Given the description of an element on the screen output the (x, y) to click on. 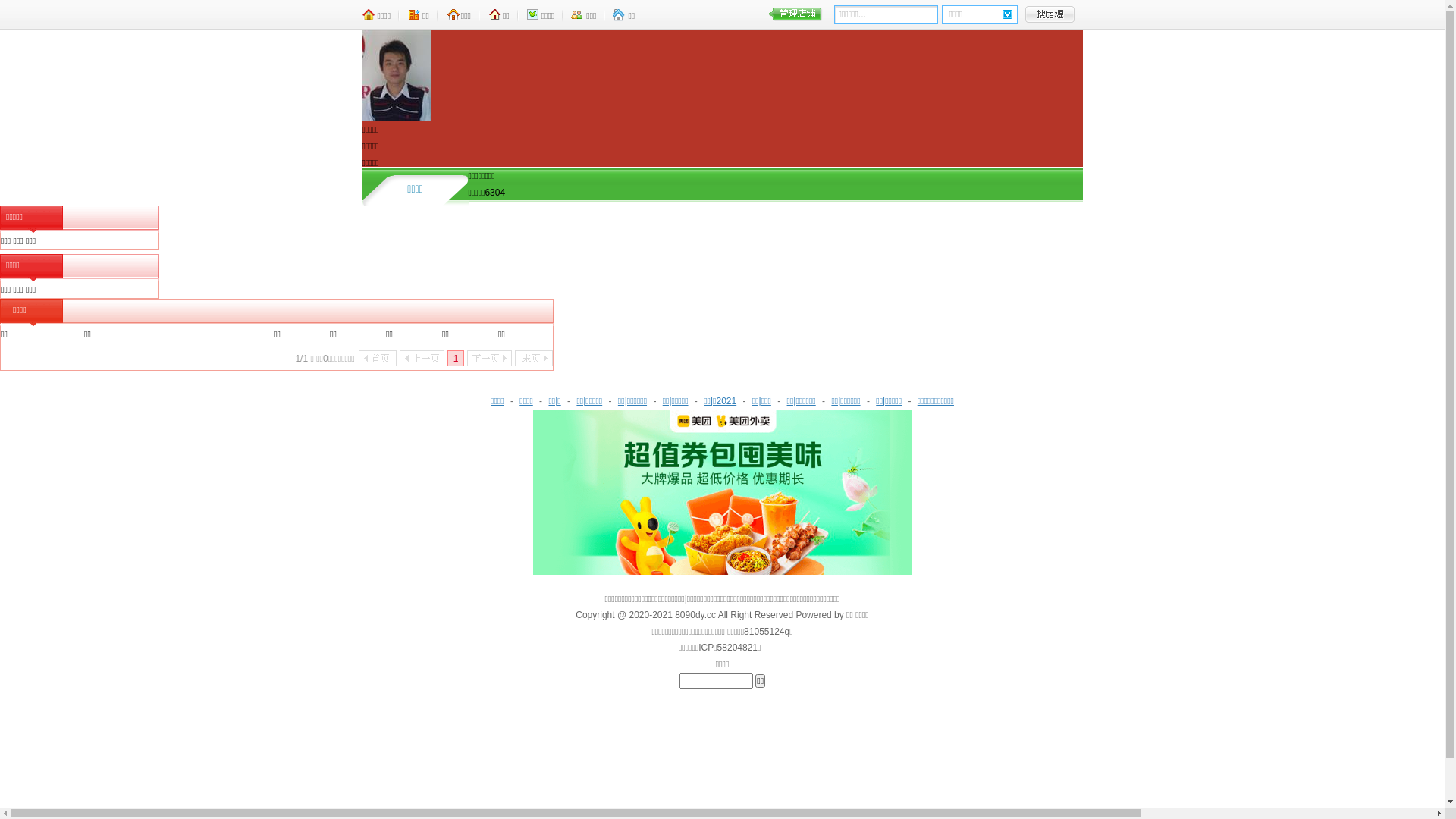
1 Element type: text (455, 358)
